Given the description of an element on the screen output the (x, y) to click on. 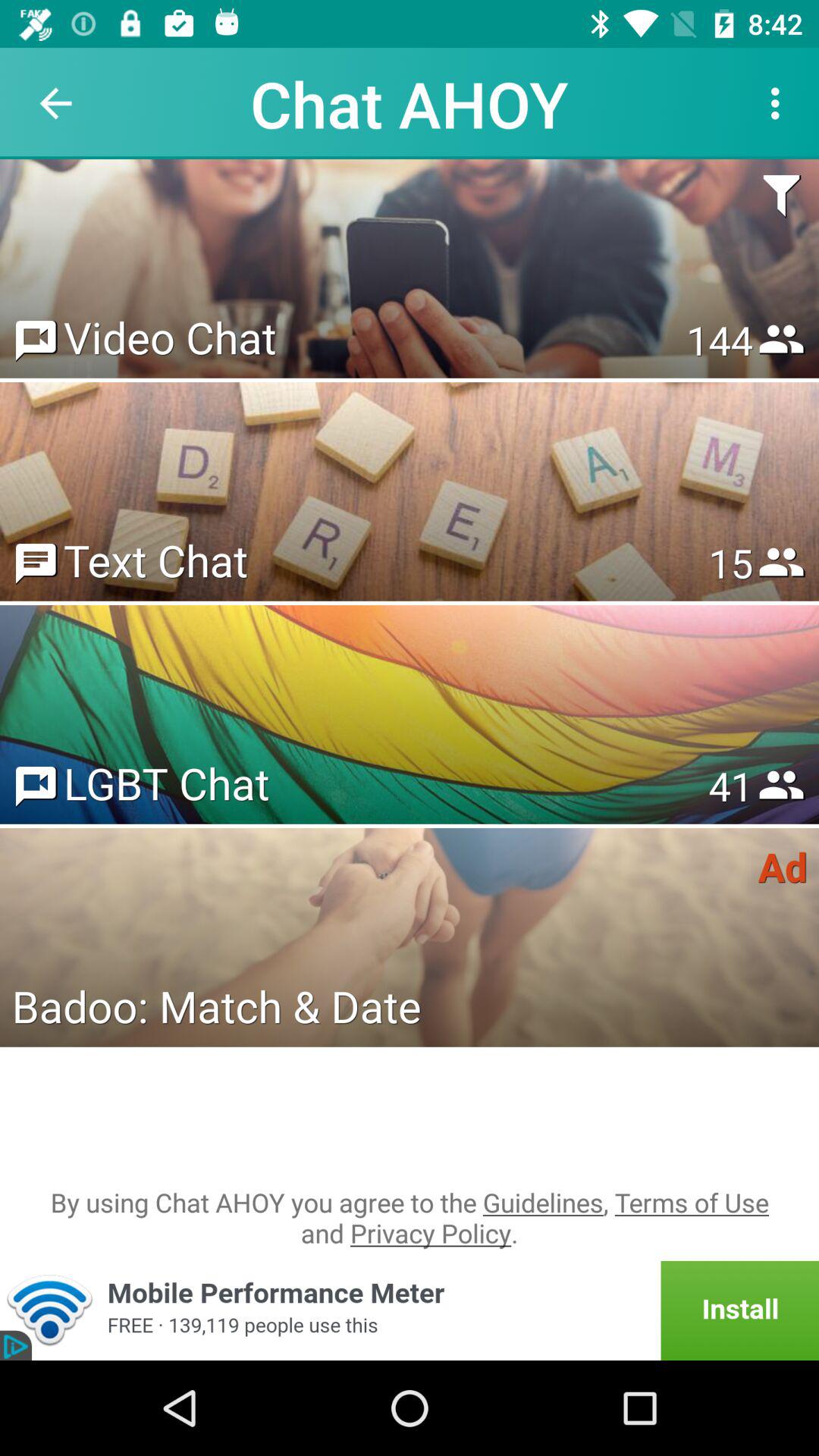
turn on the icon above the by using chat item (216, 1005)
